Given the description of an element on the screen output the (x, y) to click on. 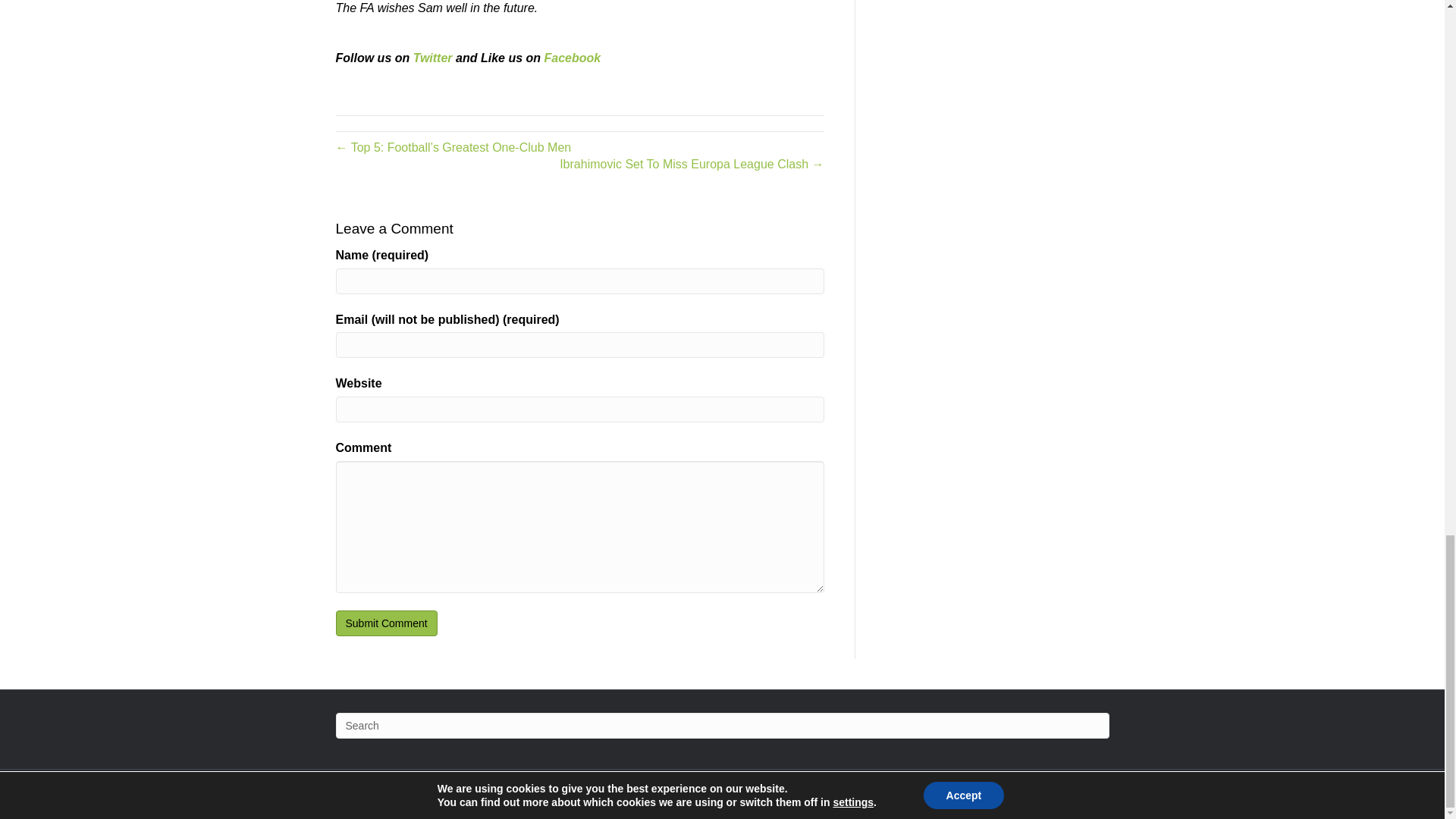
Search (721, 725)
Submit Comment (385, 623)
Search (721, 725)
Type and press Enter to search. (721, 725)
